Given the description of an element on the screen output the (x, y) to click on. 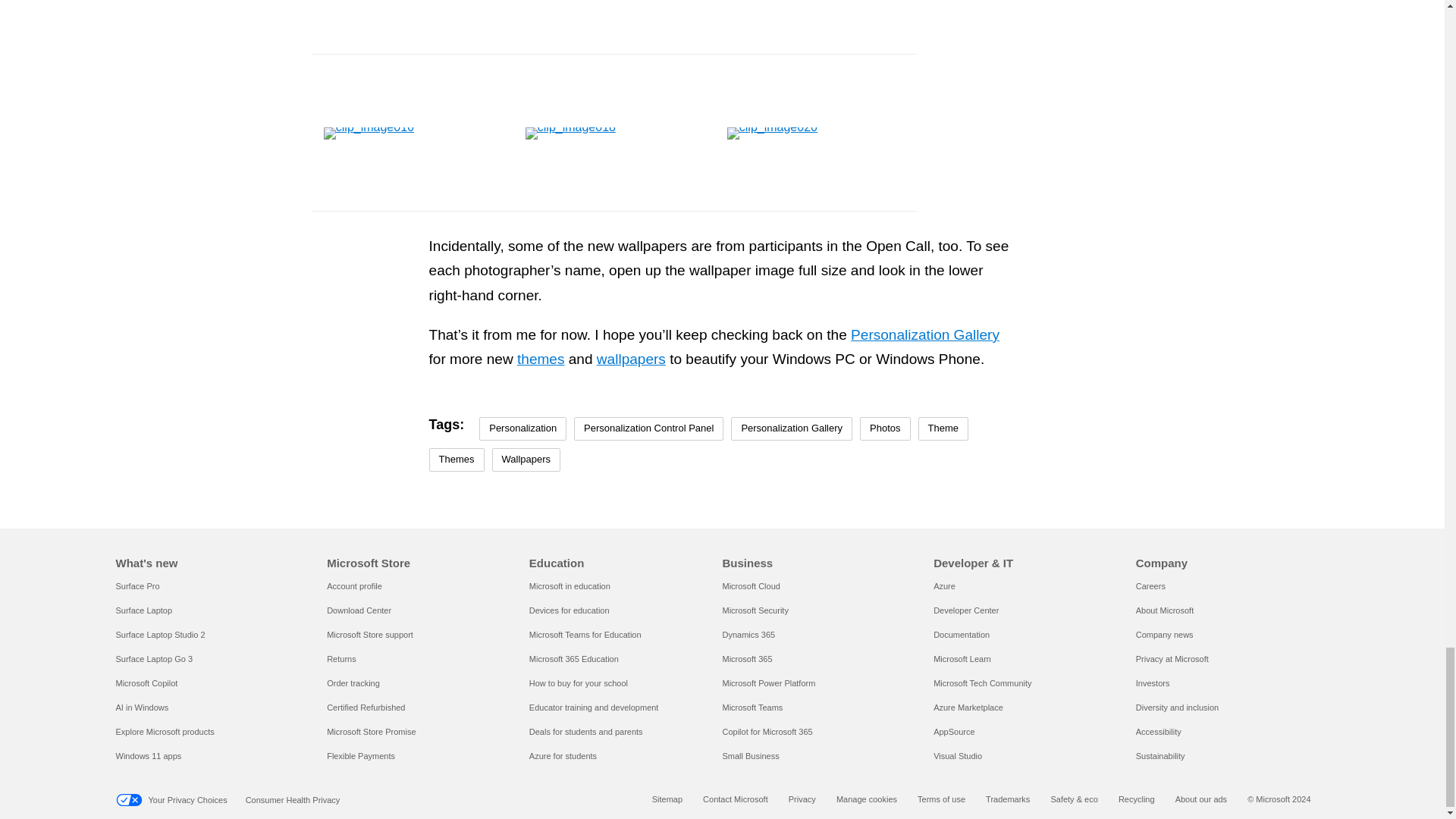
Personalization Gallery Tag (790, 428)
Photos Tag (885, 428)
Personalization Control Panel Tag (648, 428)
Personalization Tag (522, 428)
